Given the description of an element on the screen output the (x, y) to click on. 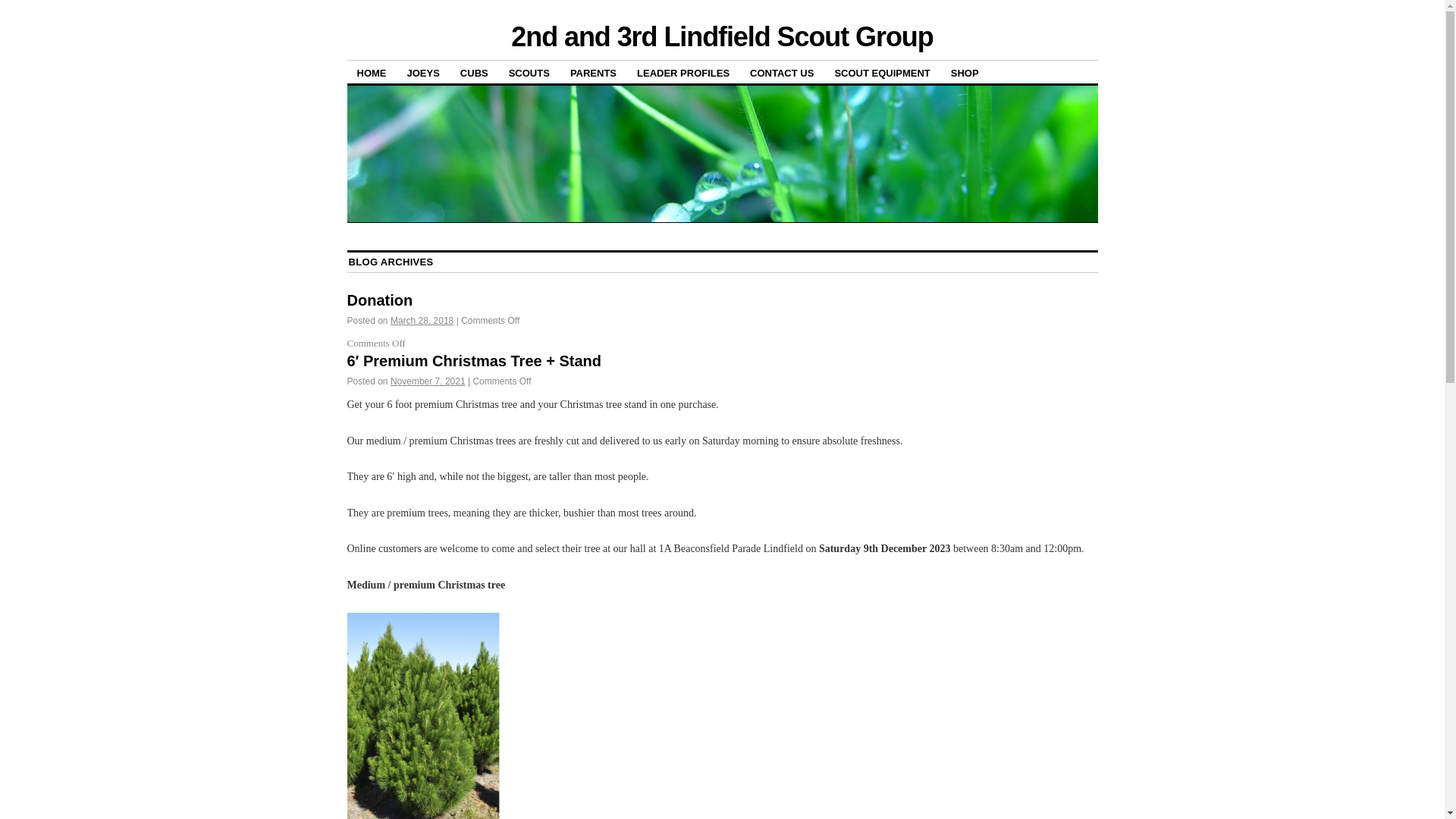
SHOP Element type: text (964, 72)
PARENTS Element type: text (593, 72)
LEADER PROFILES Element type: text (683, 72)
HOME Element type: text (371, 72)
2nd and 3rd Lindfield Scout Group Element type: text (721, 36)
Donation Element type: text (380, 299)
March 28, 2018 Element type: text (421, 320)
CONTACT US Element type: text (781, 72)
SCOUTS Element type: text (528, 72)
CUBS Element type: text (474, 72)
SCOUT EQUIPMENT Element type: text (881, 72)
JOEYS Element type: text (423, 72)
November 7, 2021 Element type: text (427, 381)
